Given the description of an element on the screen output the (x, y) to click on. 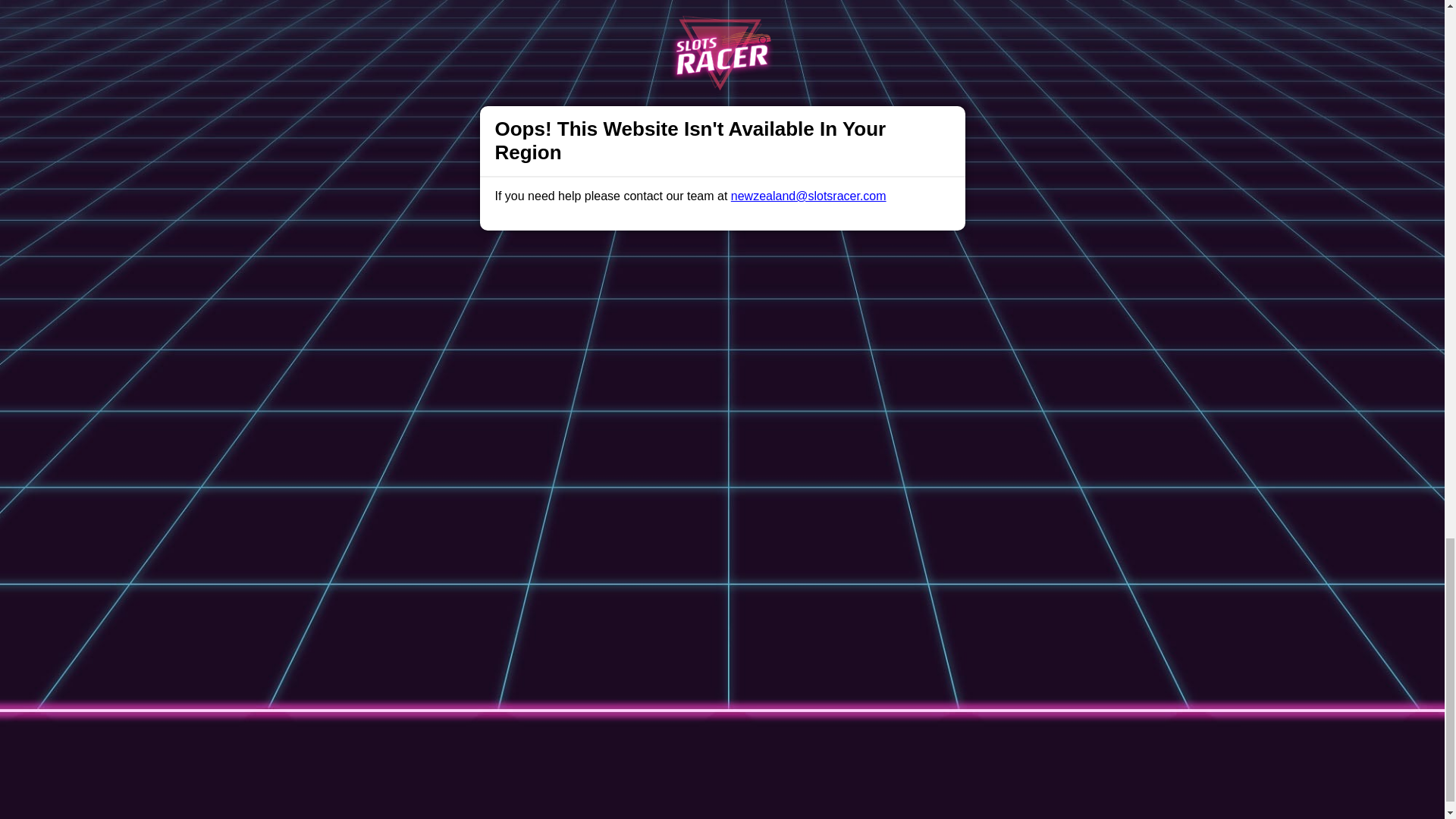
Blog (738, 521)
Back To All Games (722, 422)
Help (489, 521)
Fishing Frenzy Slot Machine (464, 281)
Back To All Games (721, 422)
Privacy Policy (671, 521)
Responsible Gaming (407, 521)
Stardust (410, 254)
Affiliates (791, 521)
Asgardian Stones Online (455, 267)
